Given the description of an element on the screen output the (x, y) to click on. 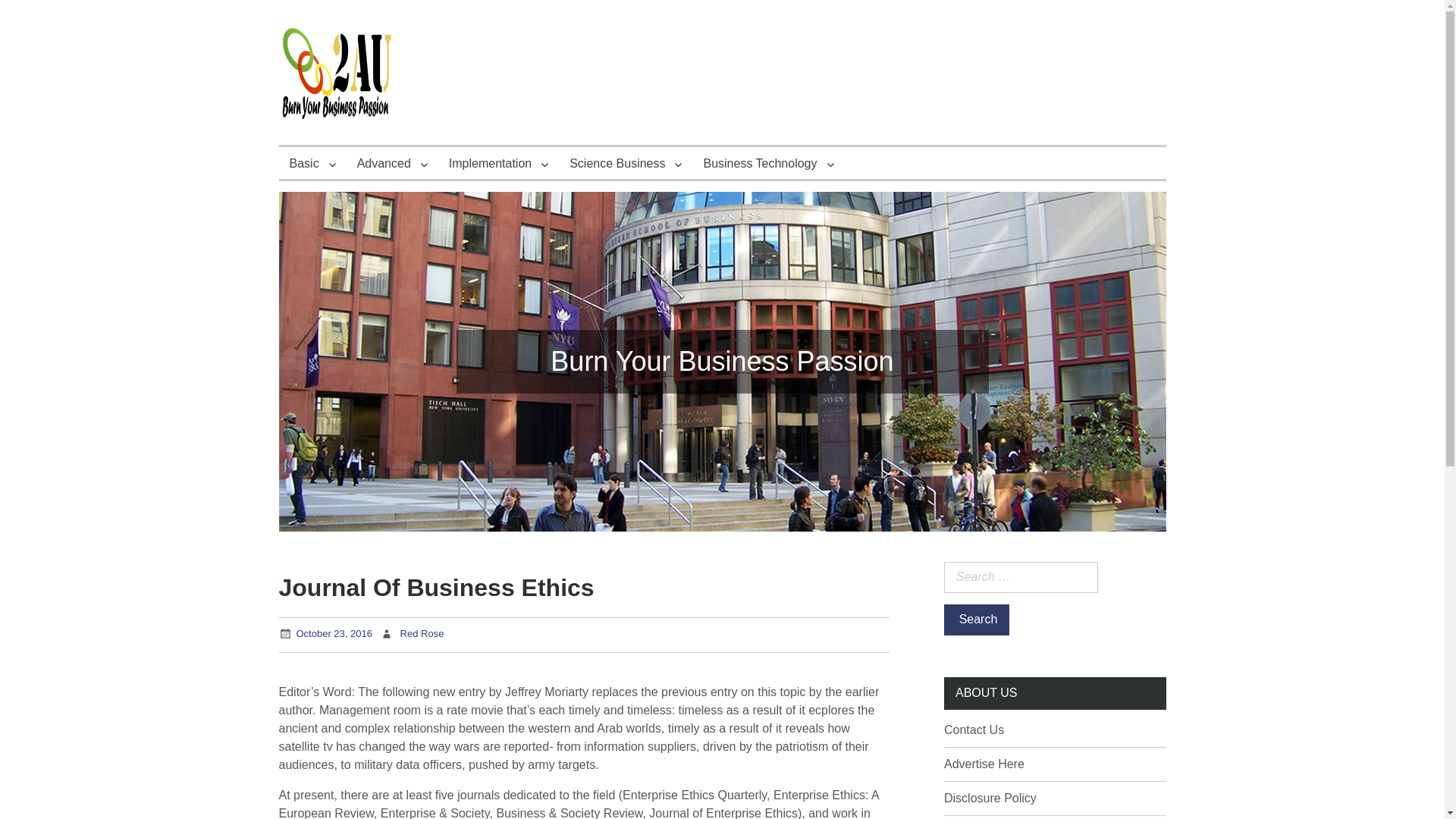
Advanced (392, 163)
Search (976, 619)
Search (976, 619)
Red Rose (422, 633)
Science Business (626, 163)
Business Technology (768, 163)
2AU (306, 157)
October 23, 2016 (333, 633)
Implementation (498, 163)
Basic (312, 163)
